Given the description of an element on the screen output the (x, y) to click on. 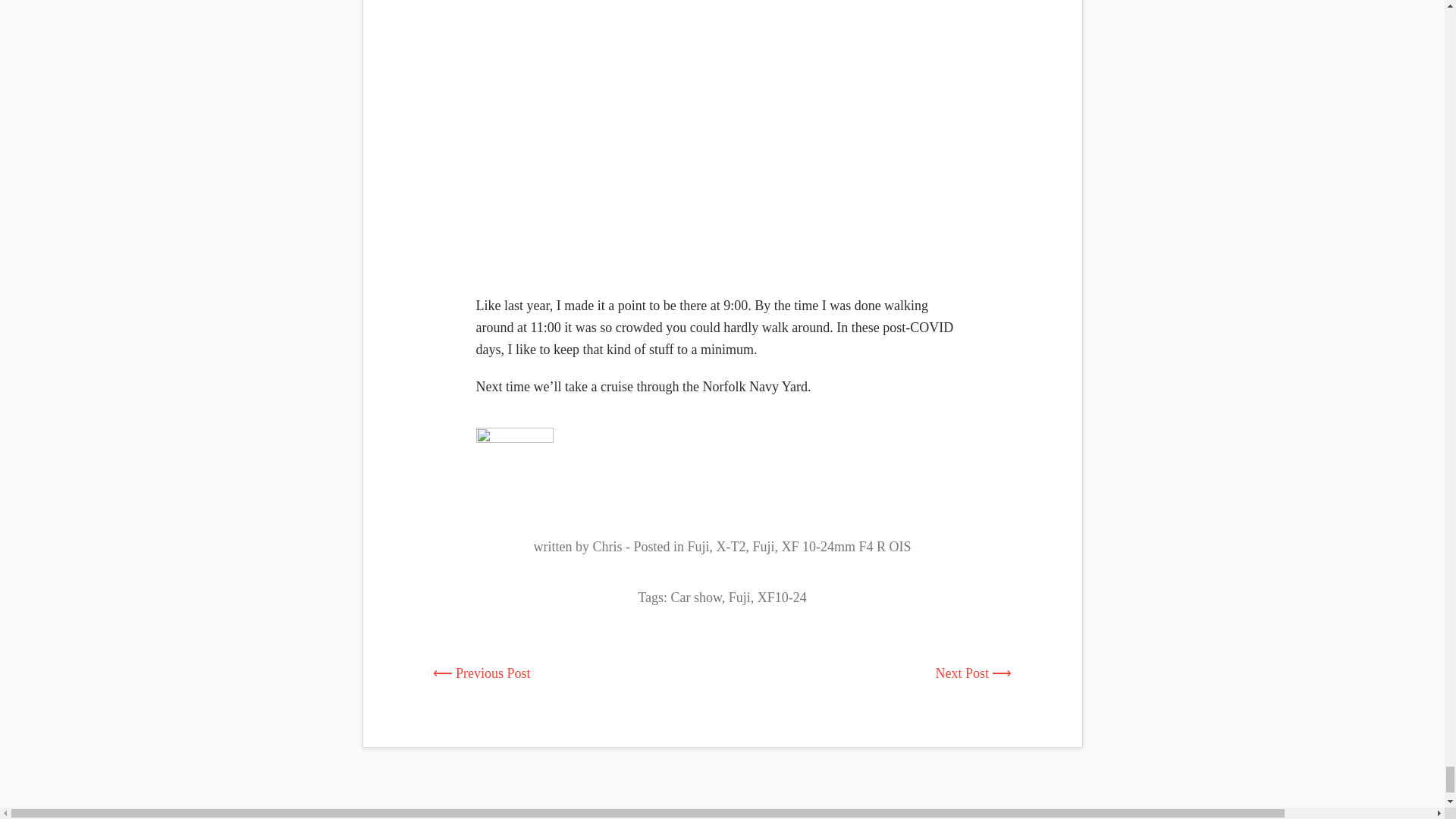
Fuji, XF 10-24mm F4 R OIS (831, 546)
XF10-24 (781, 597)
Fuji, X-T2 (716, 546)
Car show (694, 597)
Fuji (740, 597)
